Given the description of an element on the screen output the (x, y) to click on. 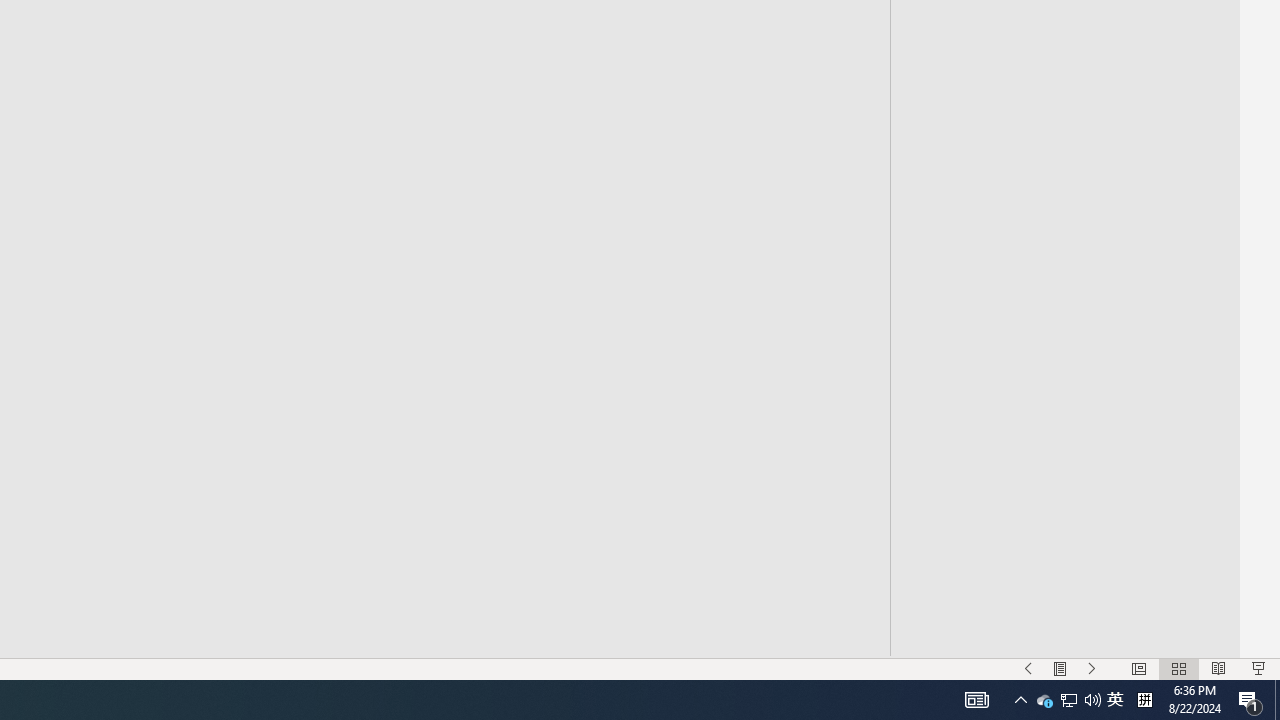
Menu On (1060, 668)
Slide Show Previous On (1028, 668)
Slide Show Next On (1092, 668)
